Given the description of an element on the screen output the (x, y) to click on. 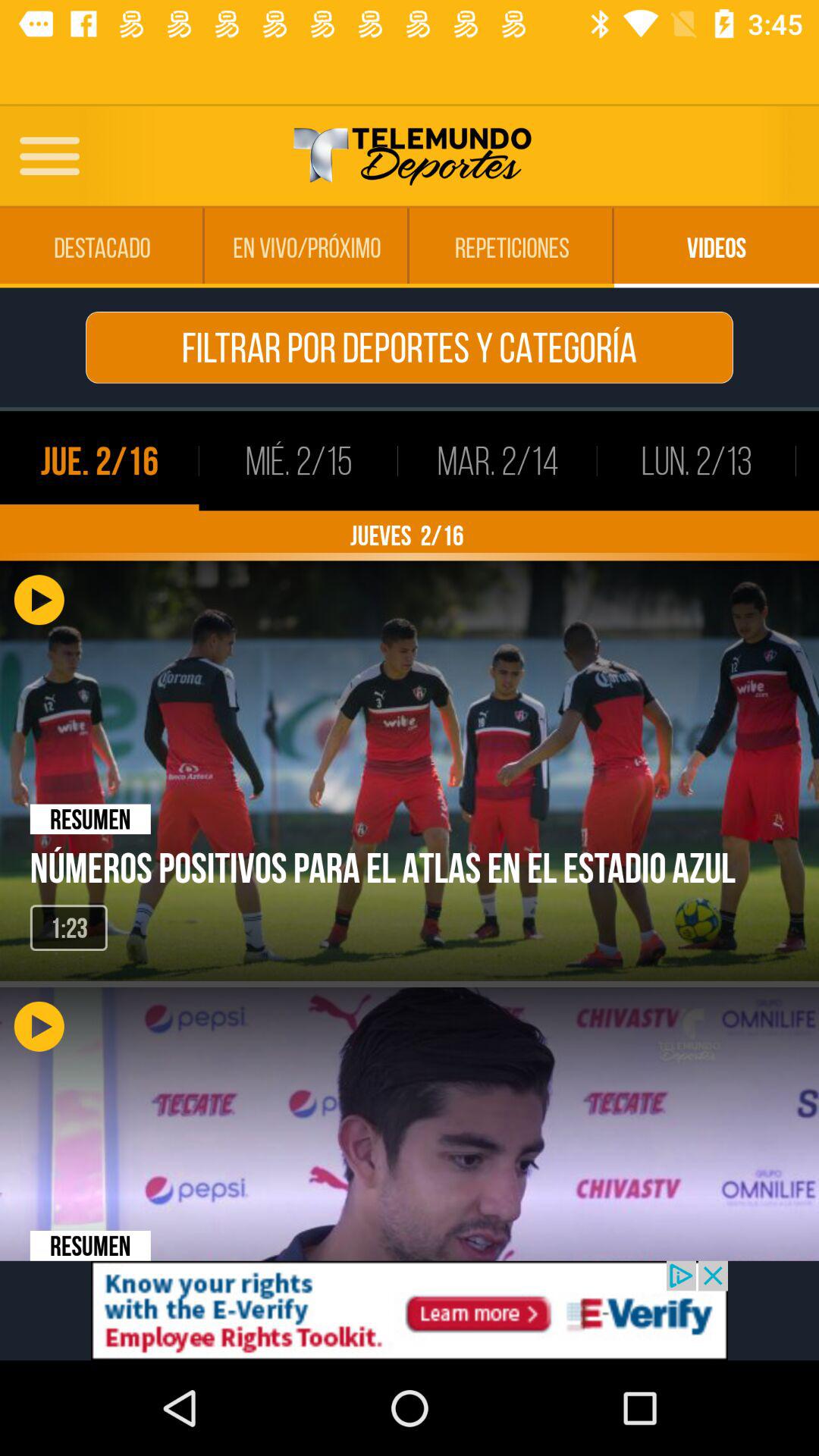
toggle advertisement option (409, 1310)
